Given the description of an element on the screen output the (x, y) to click on. 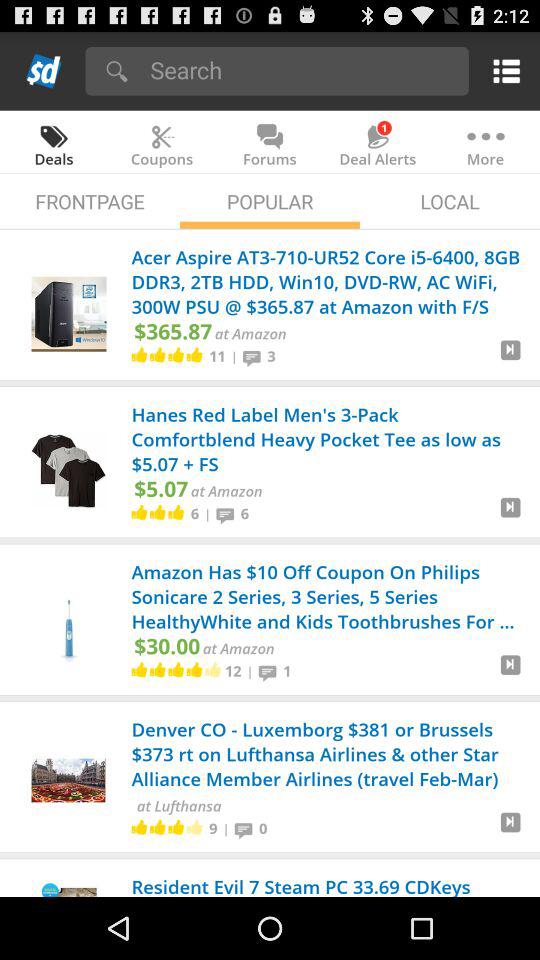
scroll to amazon has 10 app (328, 598)
